Given the description of an element on the screen output the (x, y) to click on. 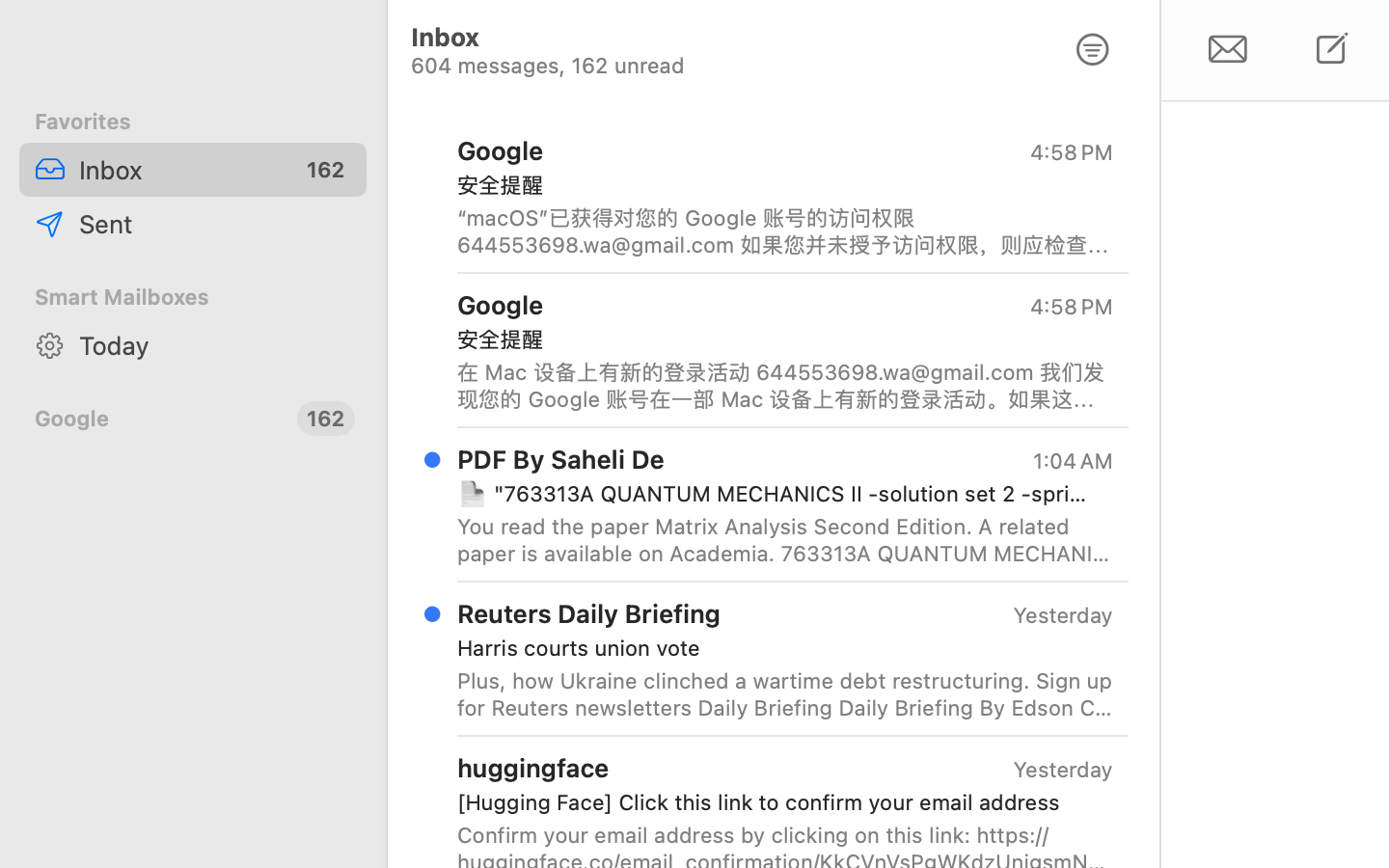
Inbox Element type: AXStaticText (180, 169)
You read the paper Matrix Analysis Second Edition. A related paper is available on Academia. 763313A QUANTUM MECHANICS II -solution set 2 -spring 2014 Saheli De 237 Views View PDF ▸ Download PDF ⬇ Your recent reading history: Matrix Analysis Second Edition - Benedict Cui Want fewer recommendations like this one? 580 California St., Suite 400, San Francisco, CA, 94104 Unsubscribe Privacy Policy Terms of Service © 2024 Academia Element type: AXStaticText (784, 540)
Yesterday Element type: AXStaticText (1062, 769)
Smart Mailboxes Element type: AXStaticText (192, 296)
Sent Element type: AXStaticText (214, 223)
